Given the description of an element on the screen output the (x, y) to click on. 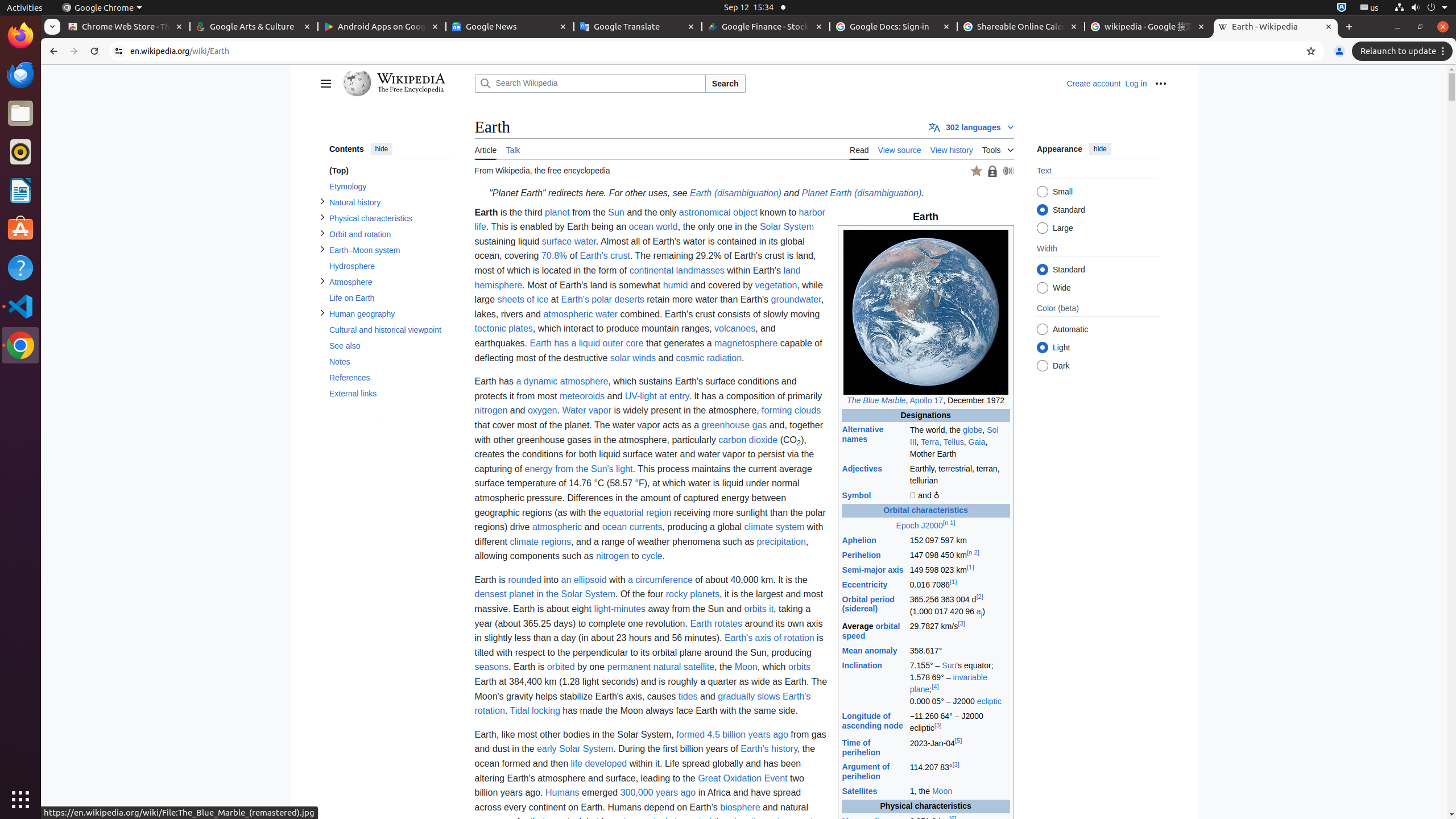
Epoch Element type: link (907, 525)
Earth (disambiguation) Element type: link (735, 193)
Article Element type: link (485, 148)
Humans Element type: link (562, 792)
Time of perihelion Element type: link (860, 747)
